Given the description of an element on the screen output the (x, y) to click on. 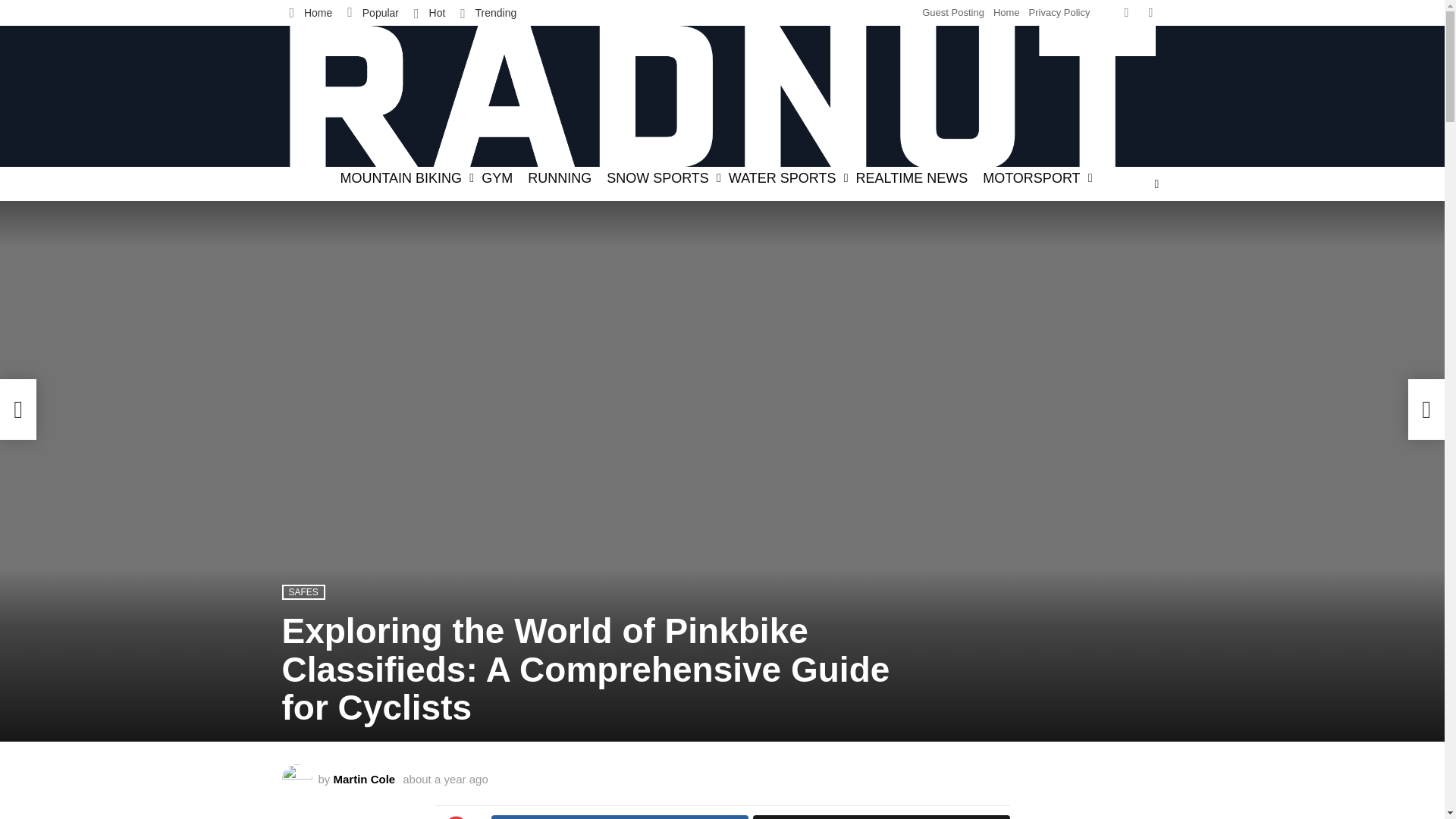
SNOW SPORTS (659, 178)
pinterest (1150, 12)
Privacy Policy (1059, 12)
twitter (1126, 12)
Hot (429, 12)
Martin Cole (364, 779)
RUNNING (558, 178)
Guest Posting (952, 12)
Posts by Martin Cole (364, 779)
Home (1006, 12)
MOTORSPORT (1033, 178)
Trending (488, 12)
GYM (496, 178)
WATER SPORTS (784, 178)
Share (620, 816)
